Given the description of an element on the screen output the (x, y) to click on. 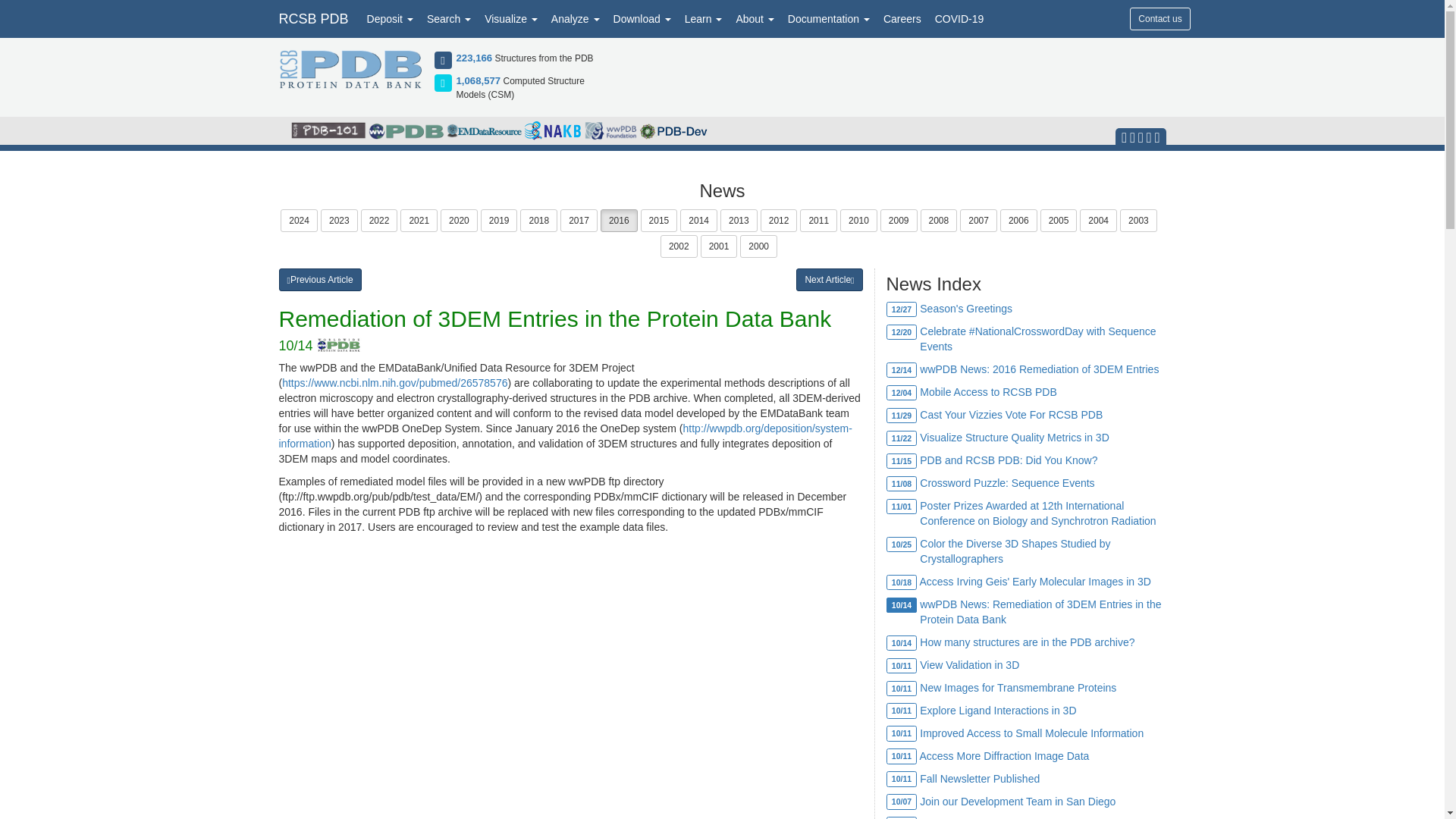
Search  (448, 18)
Deposit  (389, 18)
Visualize  (510, 18)
Analyze  (575, 18)
RCSB PDB (312, 18)
